Given the description of an element on the screen output the (x, y) to click on. 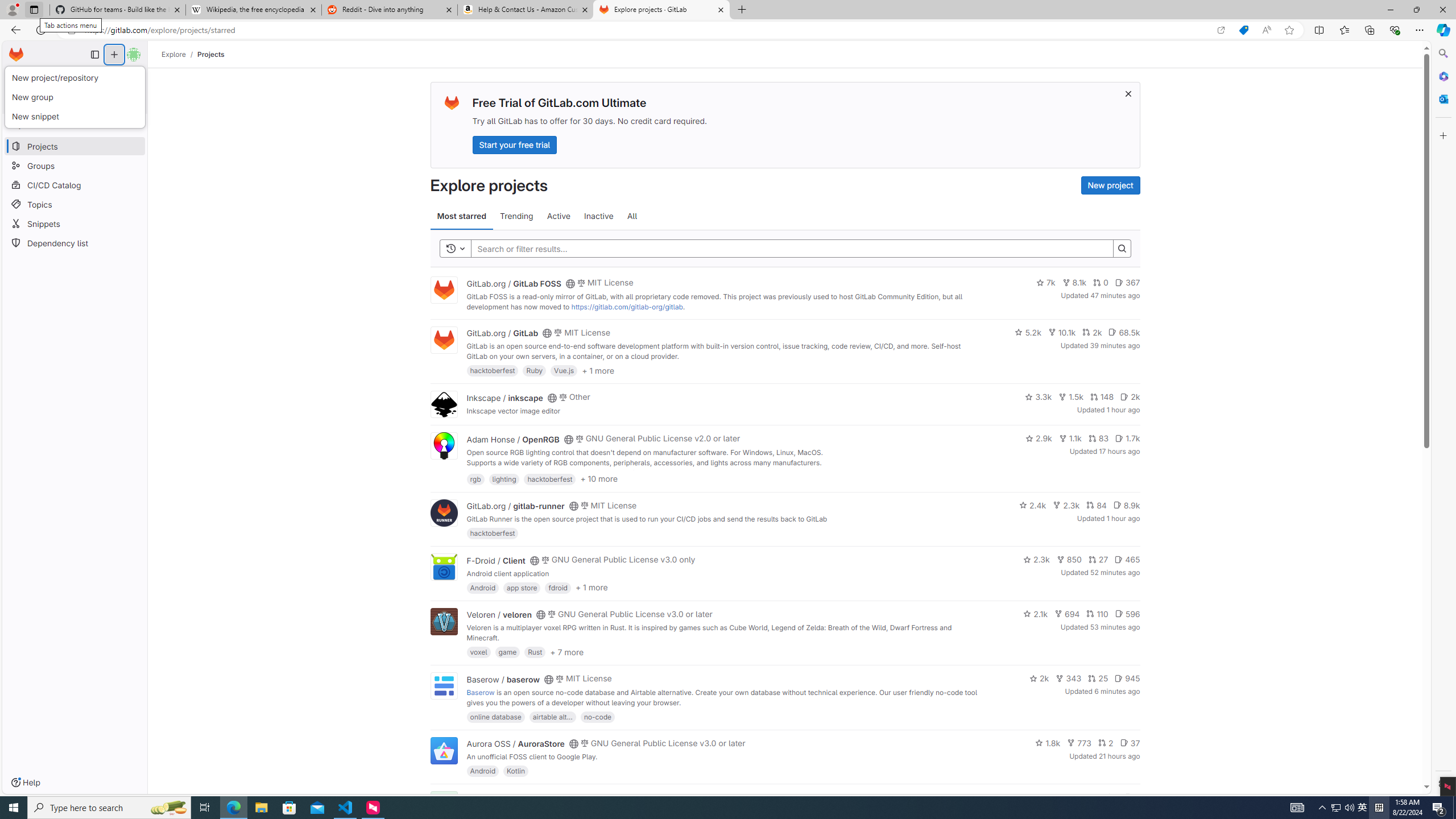
Open in app (1220, 29)
Snippets (74, 223)
Topics (74, 203)
Shopping in Microsoft Edge (1243, 29)
New project/repositoryNew groupNew snippet (75, 97)
+ 1 more (591, 587)
New group (75, 97)
Explore/ (179, 53)
voxel (478, 651)
New snippet (75, 116)
Class: s14 gl-mr-2 (1128, 796)
